Given the description of an element on the screen output the (x, y) to click on. 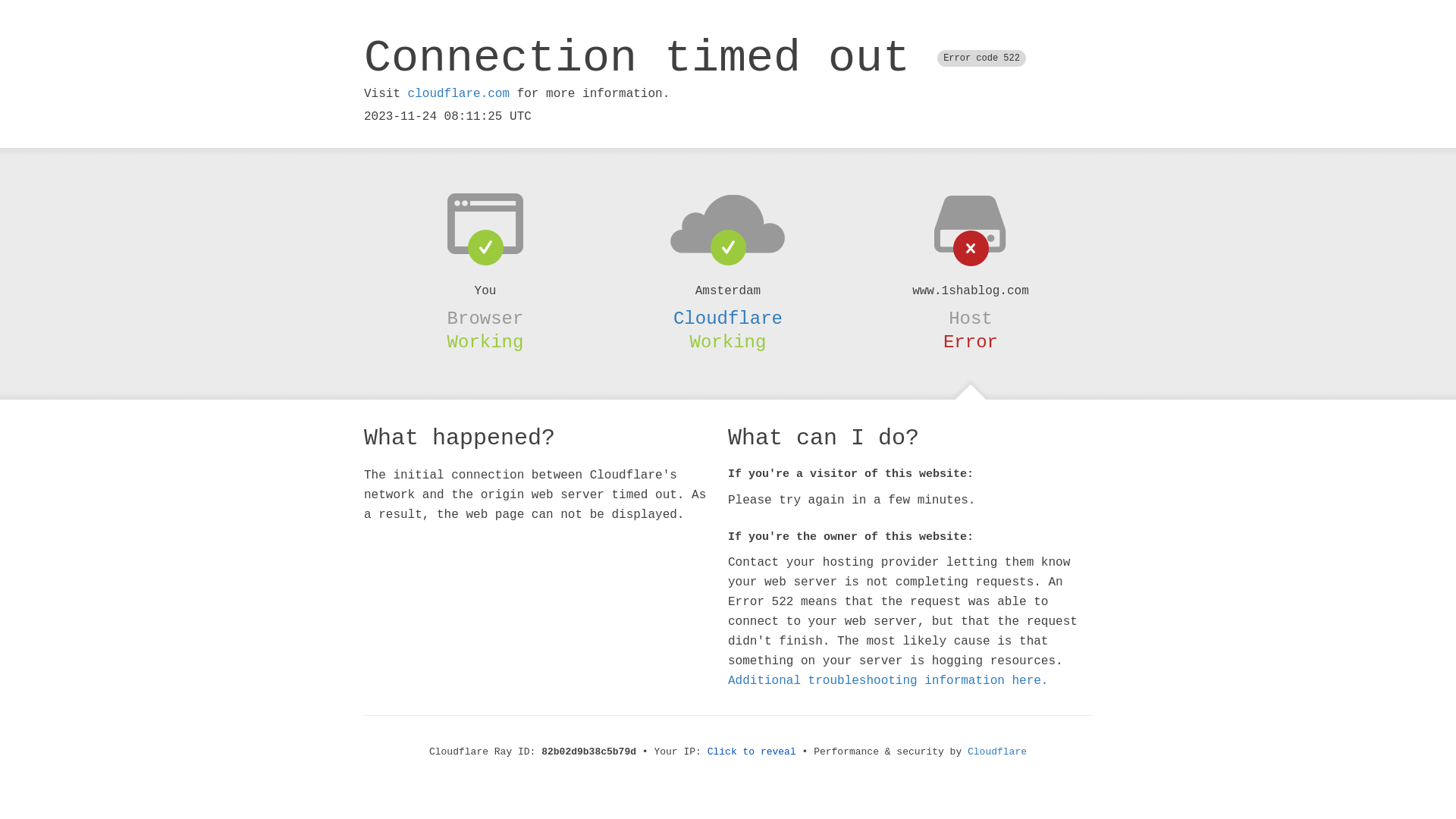
Cloudflare Element type: text (996, 751)
Cloudflare Element type: text (727, 318)
Click to reveal Element type: text (751, 751)
cloudflare.com Element type: text (458, 93)
Additional troubleshooting information here. Element type: text (888, 680)
